Given the description of an element on the screen output the (x, y) to click on. 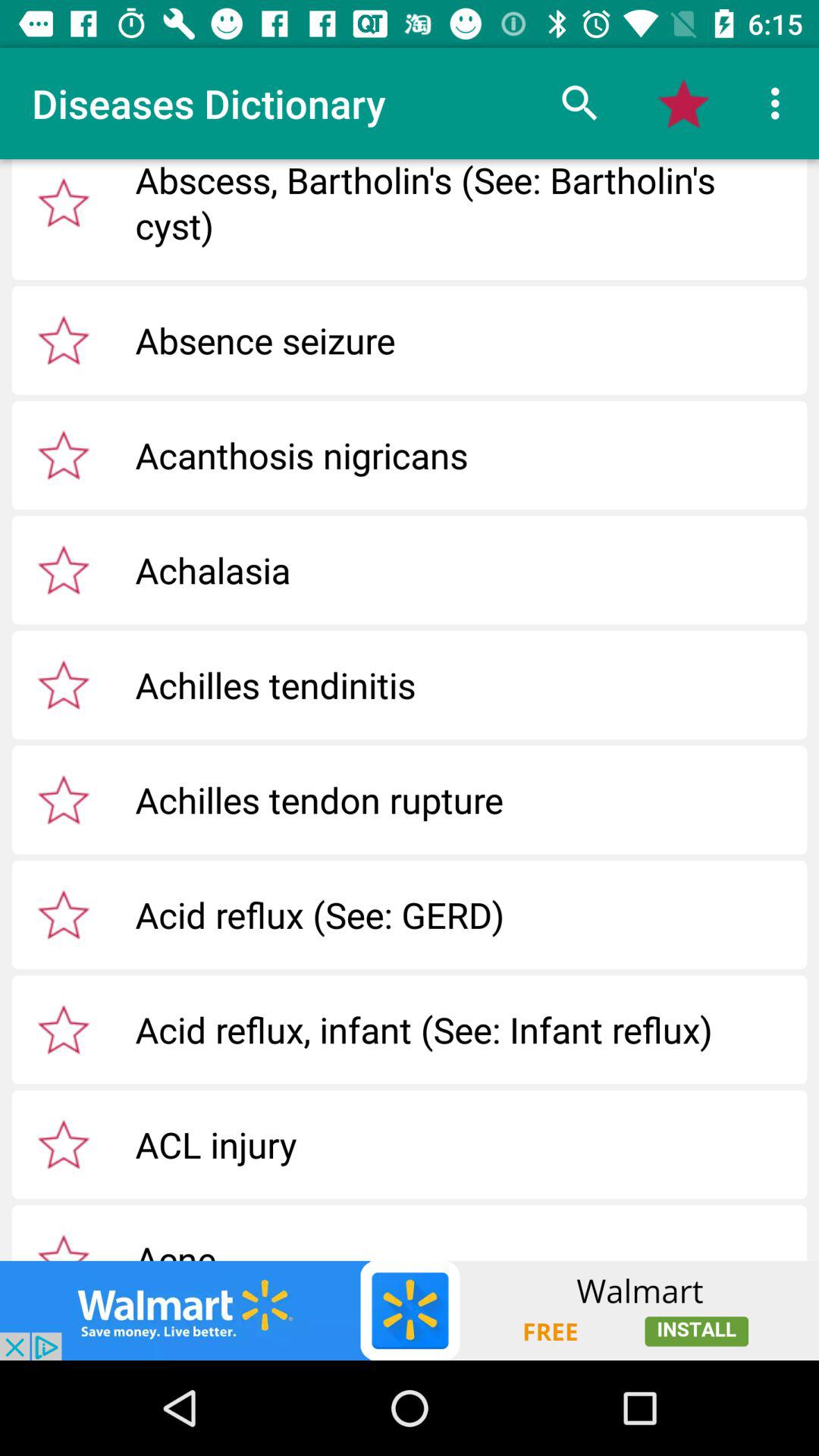
select acid reflux (63, 1029)
